Given the description of an element on the screen output the (x, y) to click on. 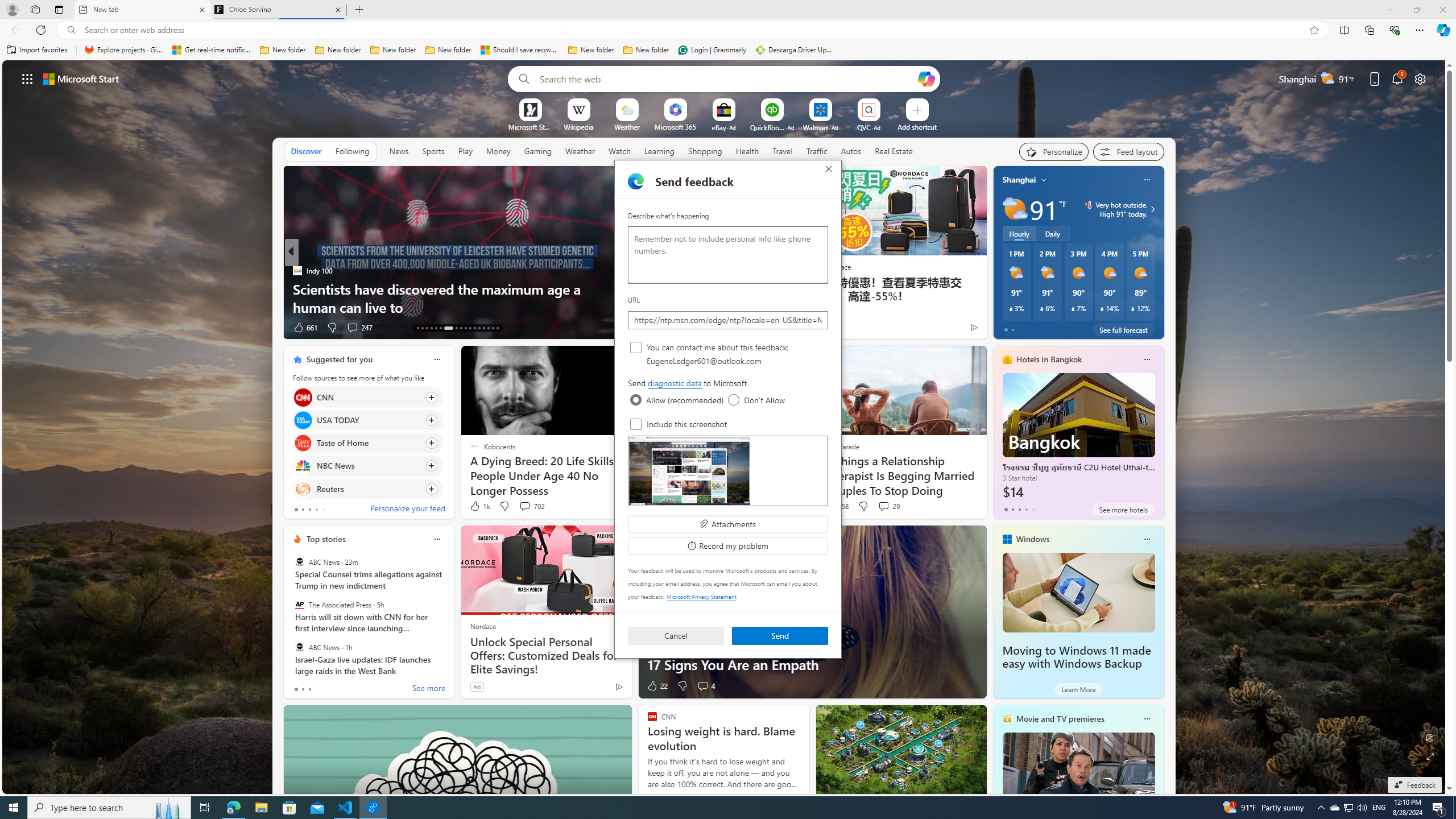
To get missing image descriptions, open the context menu. (529, 109)
Descarga Driver Updater (794, 49)
Enter your search term (726, 78)
Personalize your feed (407, 509)
Traffic (816, 151)
22 Like (657, 685)
View comments 247 Comment (352, 327)
Microsoft Start Gaming (529, 126)
Microsoft Privacy Statement (700, 596)
